Given the description of an element on the screen output the (x, y) to click on. 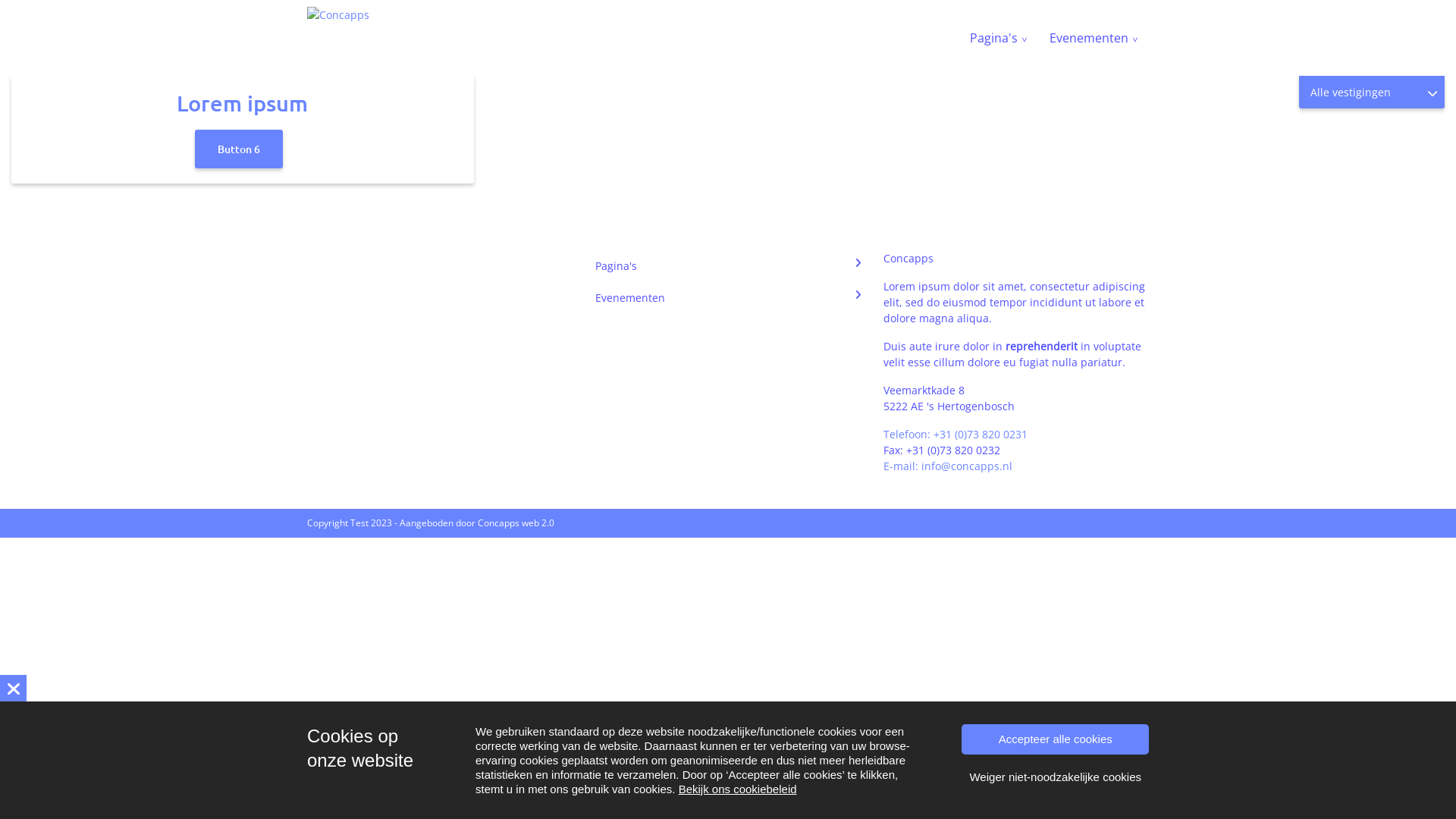
Telefoon: +31 (0)73 820 0231 Element type: text (955, 433)
Pagina's Element type: text (727, 265)
Bekijk ons cookiebeleid Element type: text (737, 788)
Evenementen Element type: text (727, 297)
Concapps web 2.0 Element type: text (515, 522)
Weiger niet-noodzakelijke cookies Element type: text (1054, 777)
Evenementen Element type: text (1093, 37)
Accepteer alle cookies Element type: text (1054, 739)
  Element type: text (13, 687)
Concapps Element type: hover (338, 14)
Button 6 Element type: text (238, 148)
E-mail: info@concapps.nl Element type: text (947, 465)
Pagina's Element type: text (998, 37)
